Given the description of an element on the screen output the (x, y) to click on. 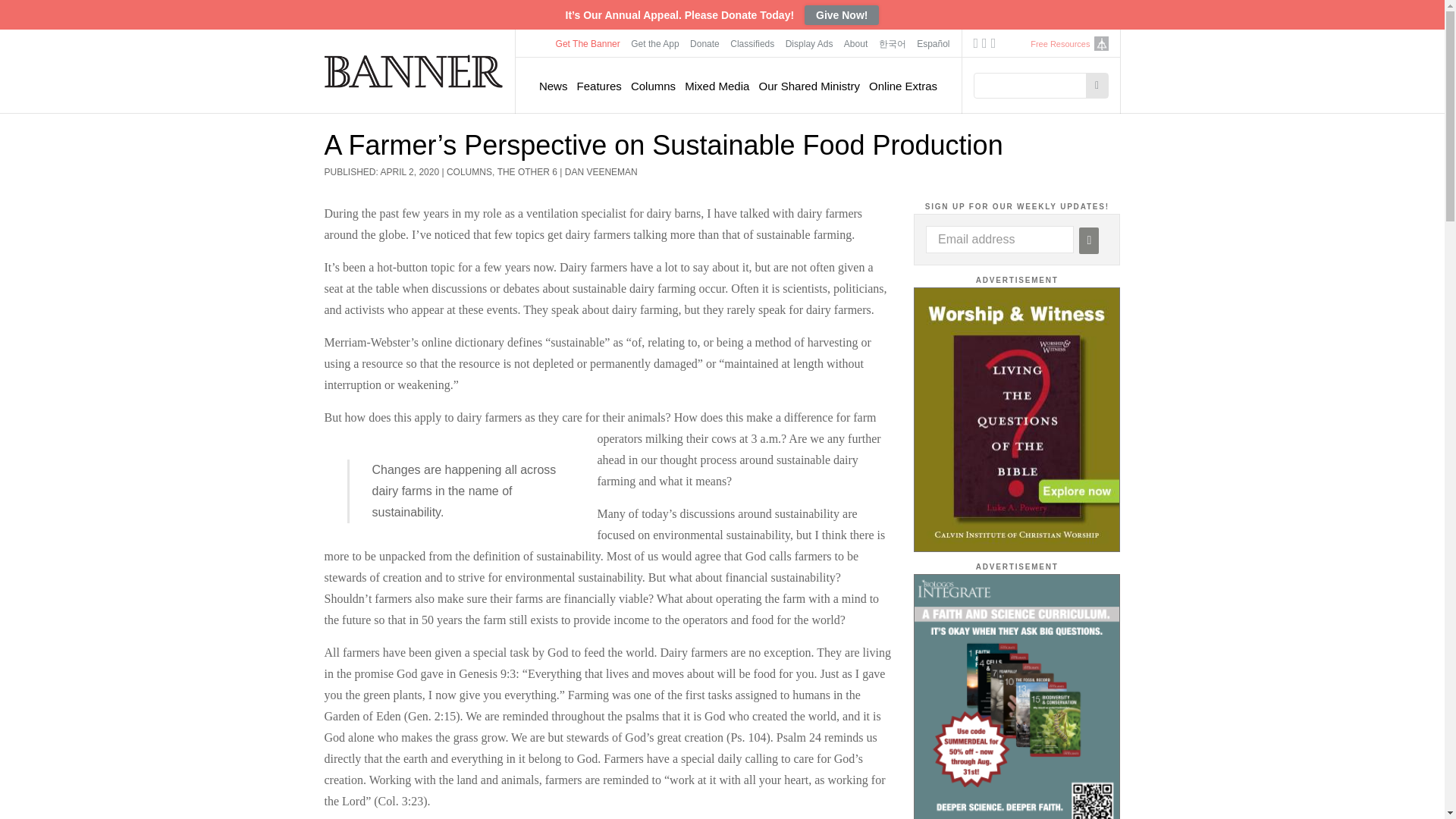
Classifieds (751, 43)
Home (413, 70)
COLUMNS, (471, 172)
THE OTHER 6 (527, 172)
Online Extras (903, 85)
Display Ads (809, 43)
Get the App (654, 43)
Submit (1088, 240)
Get The Banner (587, 43)
Features (598, 85)
DAN VEENEMAN (600, 172)
Enter the terms you wish to search for. (1035, 85)
Mixed Media (716, 85)
About (855, 43)
Free Resources (1059, 44)
